Given the description of an element on the screen output the (x, y) to click on. 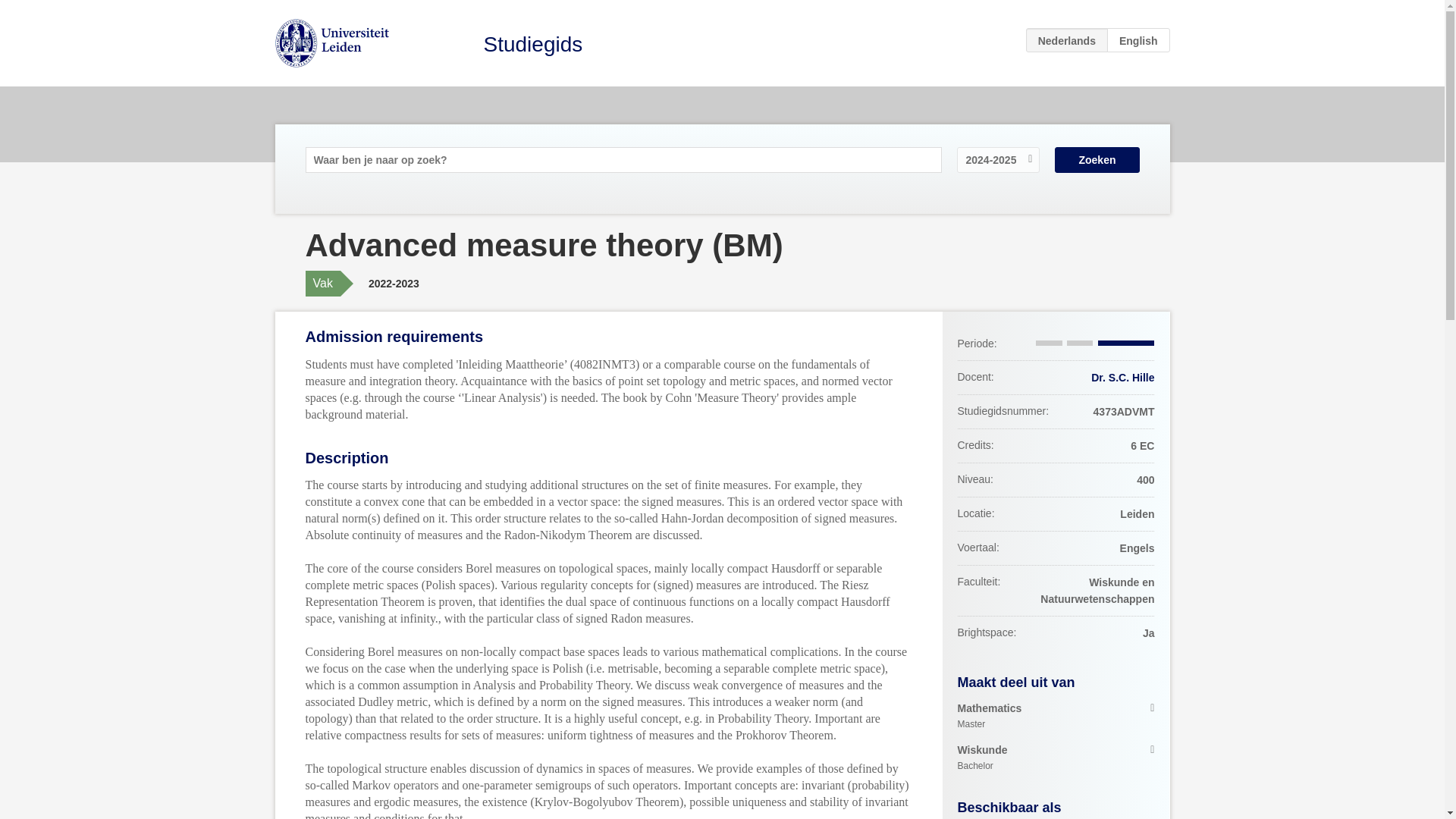
Studiegids (533, 44)
EN (1138, 39)
Zoeken (1055, 716)
Dr. S.C. Hille (1055, 758)
